Given the description of an element on the screen output the (x, y) to click on. 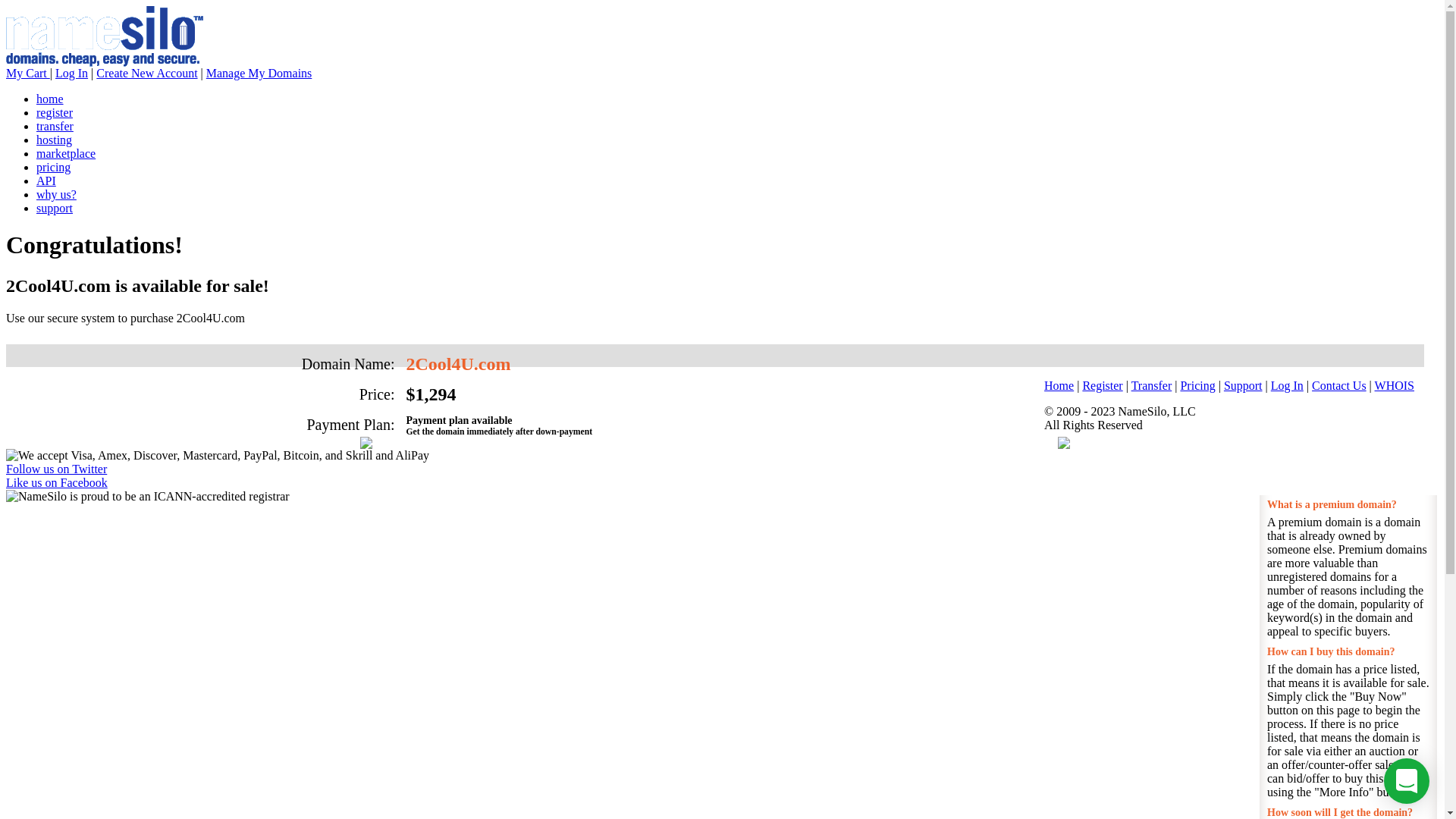
marketplace Element type: text (65, 153)
Pricing Element type: text (1196, 385)
Register Element type: text (1102, 385)
pricing Element type: text (53, 166)
Create New Account Element type: text (146, 72)
transfer Element type: text (54, 125)
why us? Element type: text (56, 194)
Log In Element type: text (1286, 385)
Log In Element type: text (71, 72)
Like us on Facebook Element type: text (56, 482)
NameSilo is proud to be an ICANN-accredited registrar Element type: hover (147, 496)
Home Element type: text (1058, 385)
Contact Us Element type: text (1338, 385)
support Element type: text (54, 207)
WHOIS Element type: text (1394, 385)
Follow us on Twitter Element type: text (56, 468)
register Element type: text (54, 112)
Transfer Element type: text (1151, 385)
API Element type: text (46, 180)
Manage My Domains Element type: text (259, 72)
Support Element type: text (1242, 385)
My Cart Element type: text (28, 72)
home Element type: text (49, 98)
hosting Element type: text (54, 139)
